Given the description of an element on the screen output the (x, y) to click on. 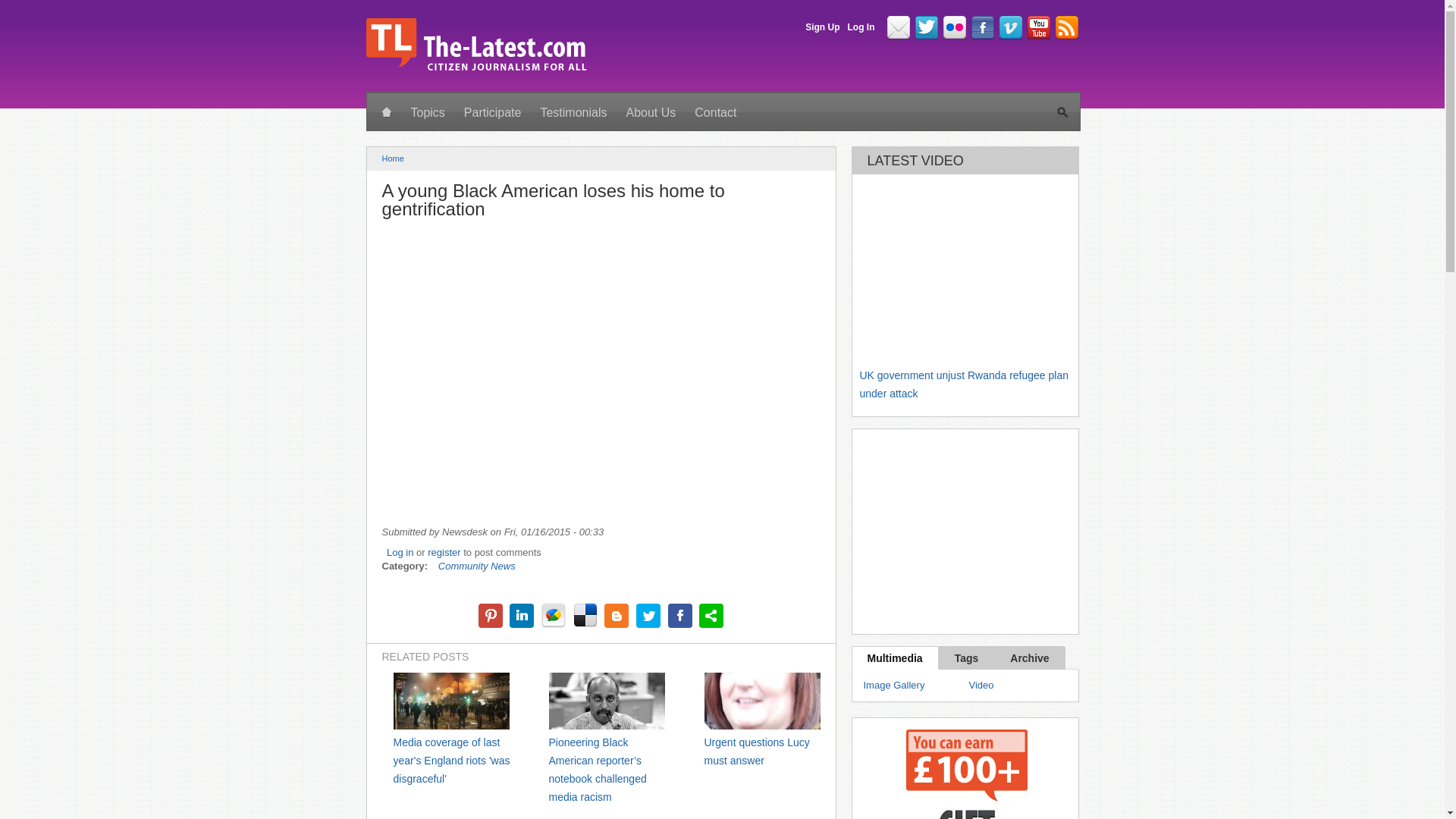
Log In (861, 27)
Topics (427, 112)
Log in (400, 552)
Home (392, 157)
Sign Up (822, 27)
About Us (649, 112)
The Latest - Citizen Journalism for All (475, 69)
Testimonials (573, 112)
